Given the description of an element on the screen output the (x, y) to click on. 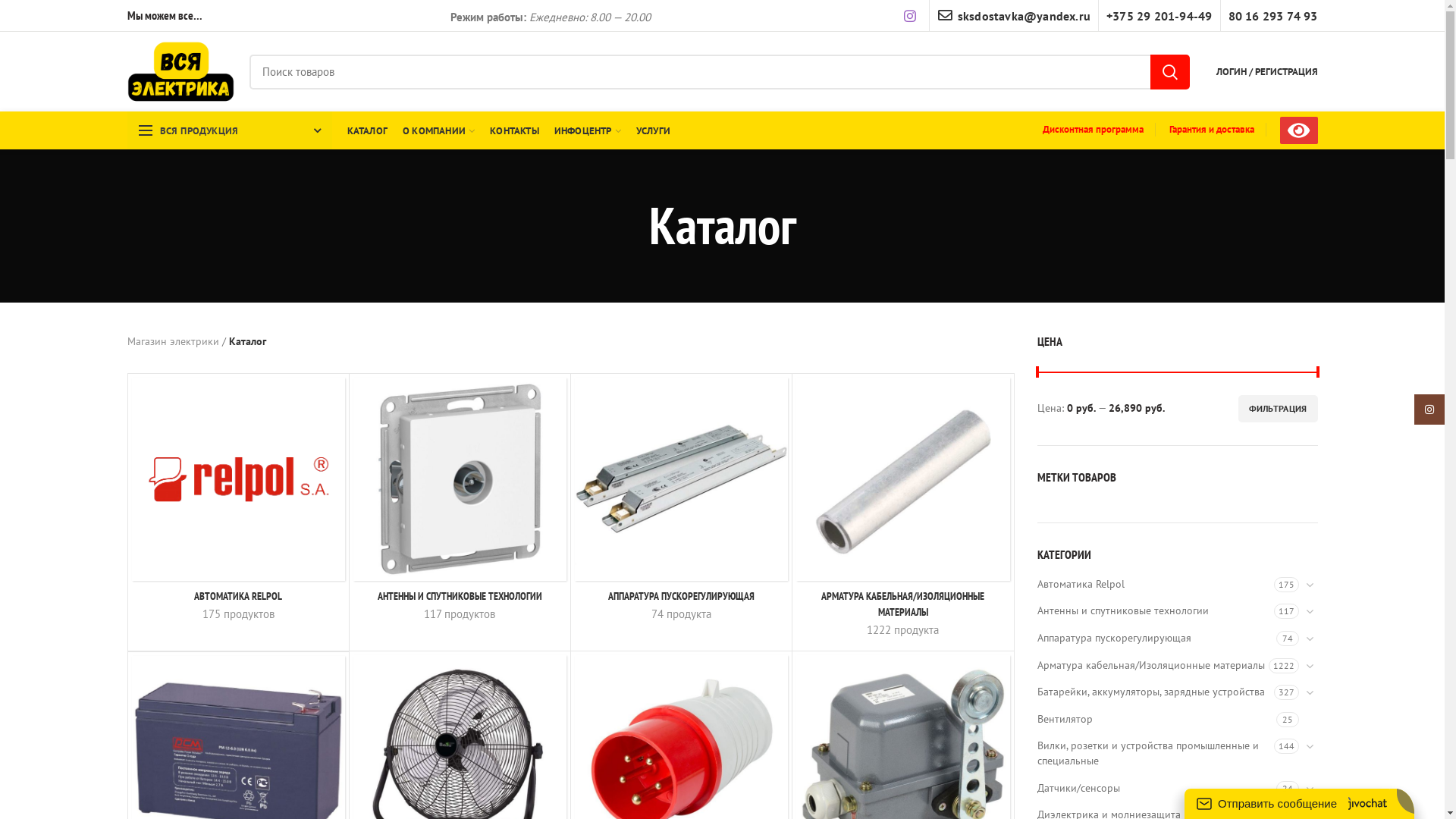
80 16 293 74 93 Element type: text (200, 165)
+375 29 201-94-49 Element type: text (208, 150)
sksdostavka@yandex.ru Element type: text (228, 135)
sksdostavka@yandex.ru Element type: text (228, 192)
+375 29 201-94-49 Element type: text (208, 208)
Instagram Element type: text (160, 108)
80 16 293-74-93 Element type: text (208, 223)
